Given the description of an element on the screen output the (x, y) to click on. 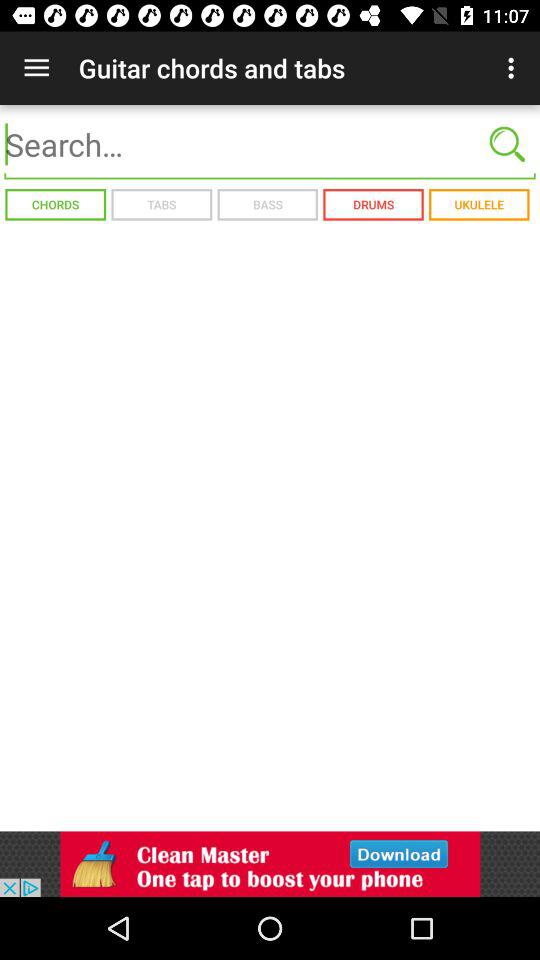
click the advertisement at bottom (270, 864)
